Given the description of an element on the screen output the (x, y) to click on. 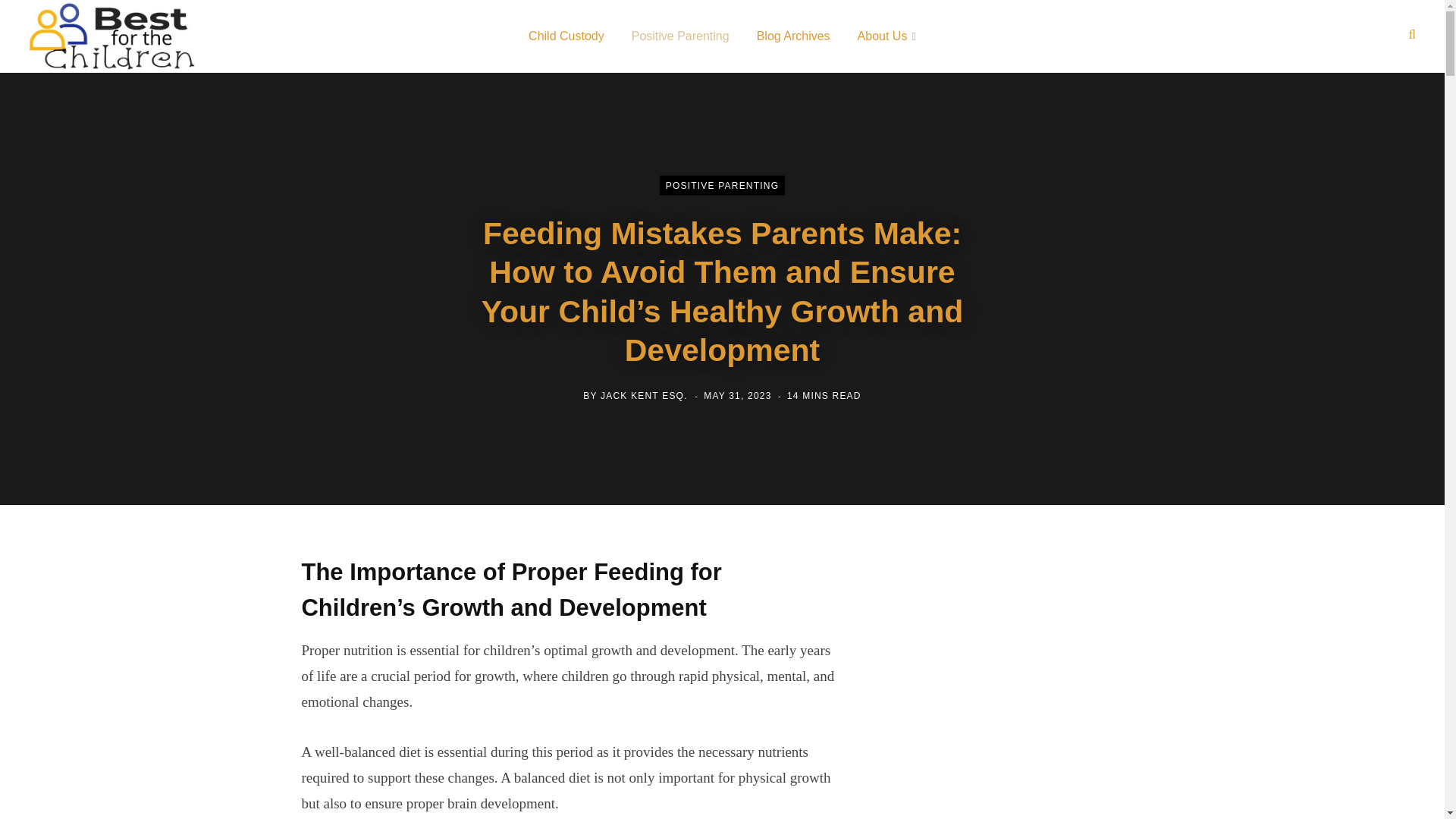
Posts by Jack Kent esq. (643, 394)
About Us (887, 36)
POSITIVE PARENTING (721, 185)
Best for the Children (112, 36)
Blog Archives (793, 36)
Child Custody (566, 36)
JACK KENT ESQ. (643, 394)
Positive Parenting (679, 36)
